Given the description of an element on the screen output the (x, y) to click on. 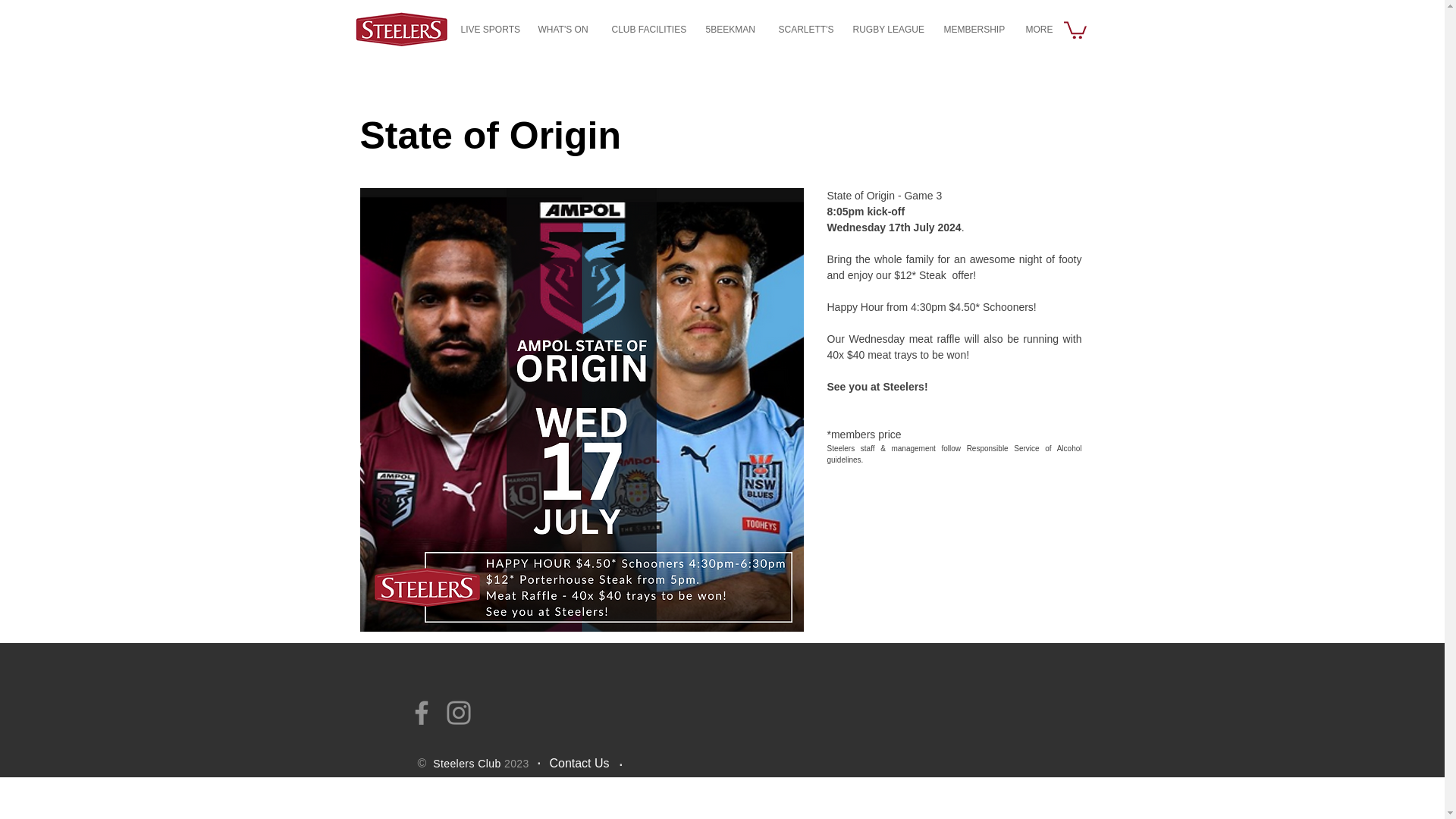
LIVE SPORTS (486, 29)
RUGBY LEAGUE (885, 29)
5BEEKMAN (729, 29)
Contact Us (578, 762)
WHAT'S ON (562, 29)
Steelers Club (464, 763)
SCARLETT'S (802, 29)
